Given the description of an element on the screen output the (x, y) to click on. 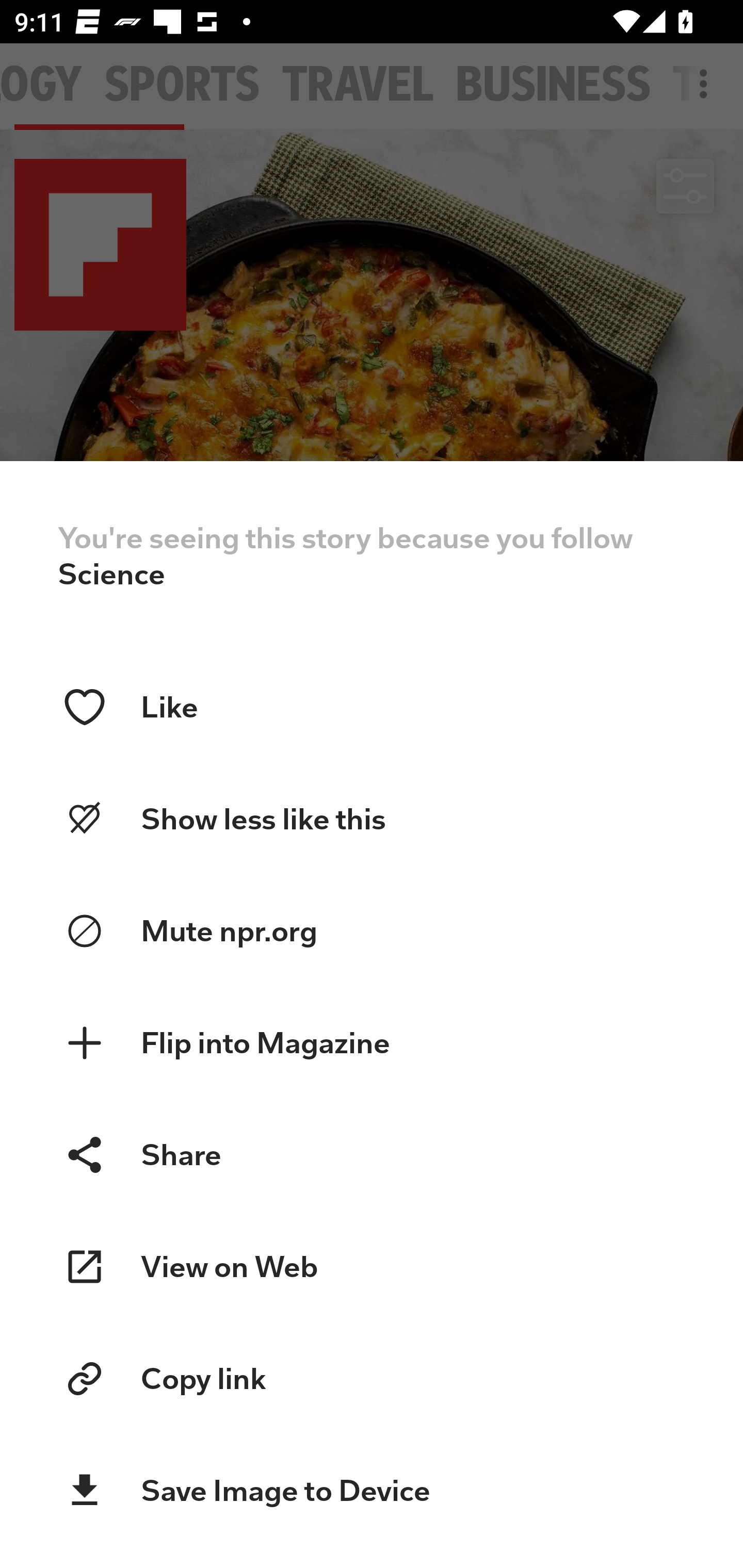
Like (371, 706)
Show less like this (371, 818)
Mute npr.org (371, 930)
Flip into Magazine (371, 1043)
Share (371, 1154)
View on Web (371, 1266)
Copy link (371, 1378)
Save Image to Device (371, 1490)
